Given the description of an element on the screen output the (x, y) to click on. 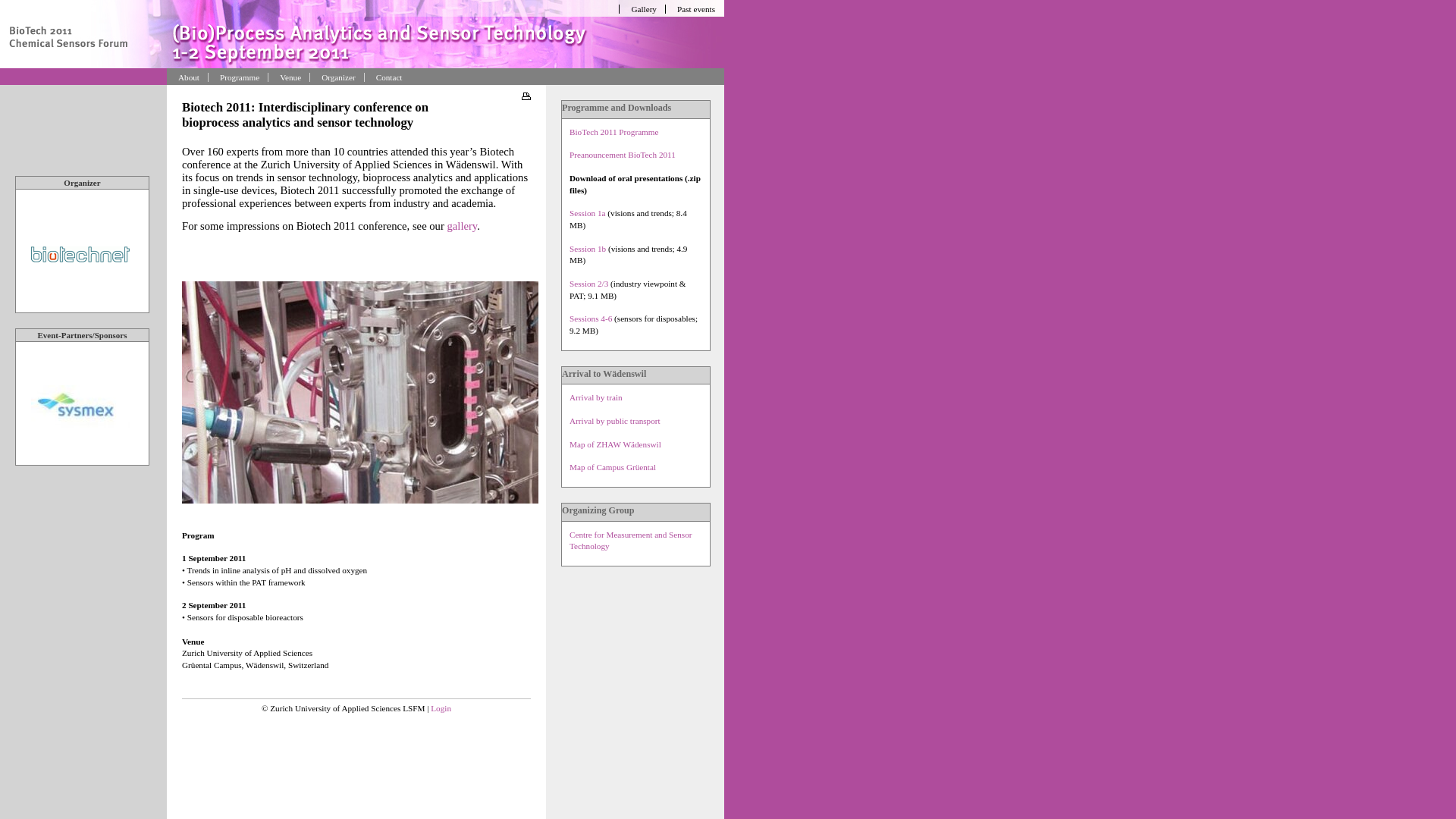
Organizer Element type: text (334, 76)
Past events Element type: text (692, 8)
BioTech 2011 Programme Element type: text (613, 131)
Preanouncement BioTech 2011 Element type: text (622, 154)
Sessions 4-6 Element type: text (590, 318)
Contact Element type: text (385, 76)
Arrival by public transport Element type: text (614, 420)
Session 2/3 Element type: text (588, 283)
About Element type: text (185, 76)
Login Element type: text (440, 707)
Gallery Element type: text (640, 8)
Venue Element type: text (286, 76)
Session 1b Element type: text (588, 248)
Programme Element type: text (235, 76)
Arrival by train Element type: text (595, 396)
Centre for Measurement and Sensor Technology Element type: text (630, 540)
gallery Element type: text (462, 225)
Session 1a Element type: text (587, 212)
